Given the description of an element on the screen output the (x, y) to click on. 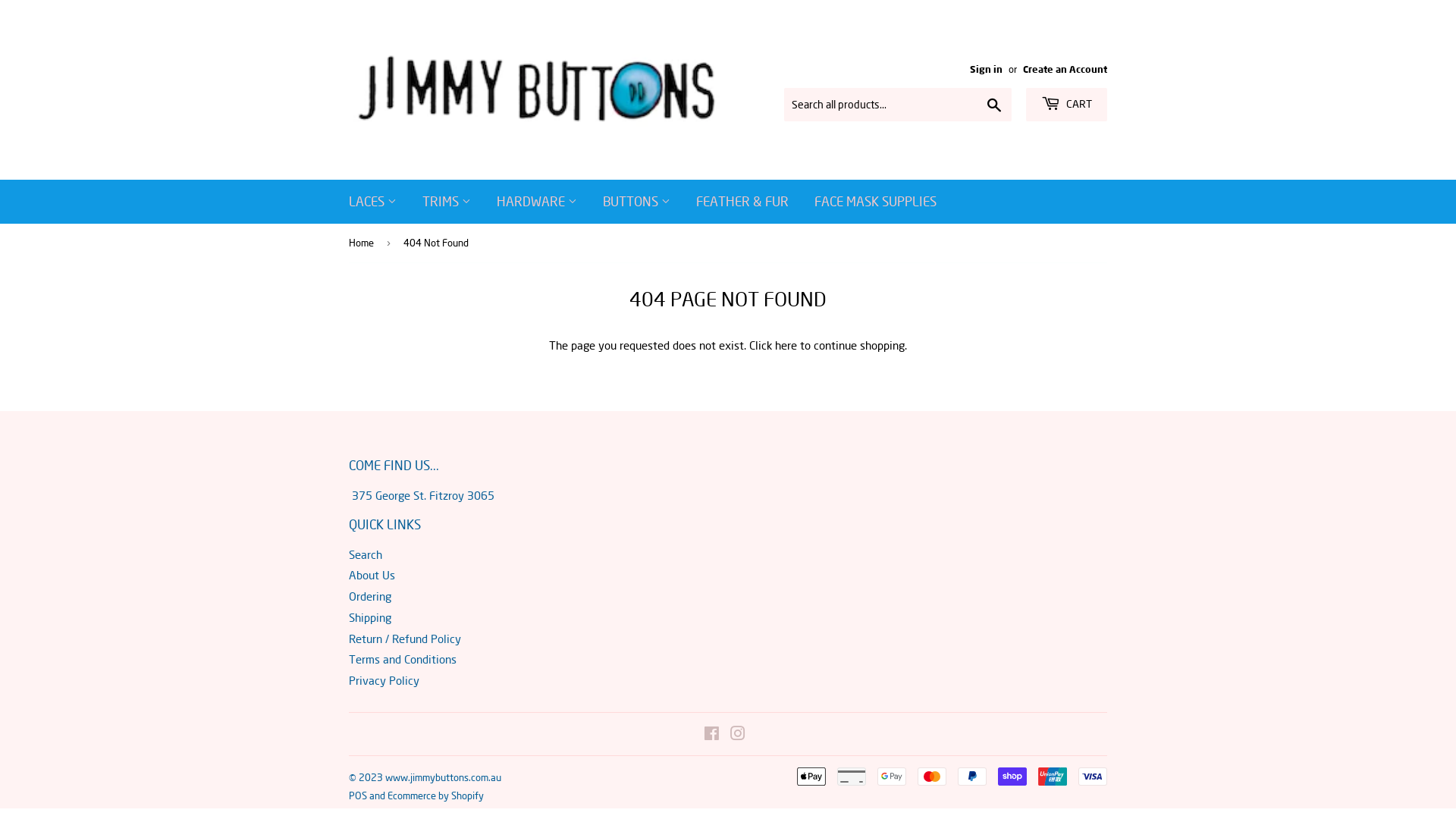
About Us Element type: text (371, 574)
Instagram Element type: text (736, 734)
FEATHER & FUR Element type: text (742, 200)
Ordering Element type: text (369, 595)
TRIMS Element type: text (446, 200)
www.jimmybuttons.com.au Element type: text (443, 777)
here Element type: text (786, 344)
Create an Account Element type: text (1064, 68)
Ecommerce by Shopify Element type: text (435, 795)
BUTTONS Element type: text (636, 200)
CART Element type: text (1066, 104)
FACE MASK SUPPLIES Element type: text (875, 200)
LACES Element type: text (372, 200)
Shipping Element type: text (369, 617)
Home Element type: text (363, 242)
POS Element type: text (357, 795)
HARDWARE Element type: text (536, 200)
Facebook Element type: text (711, 734)
Terms and Conditions Element type: text (402, 658)
Sign in Element type: text (985, 68)
Search Element type: text (365, 554)
Return / Refund Policy Element type: text (404, 638)
Privacy Policy Element type: text (383, 680)
Search Element type: text (994, 105)
